Given the description of an element on the screen output the (x, y) to click on. 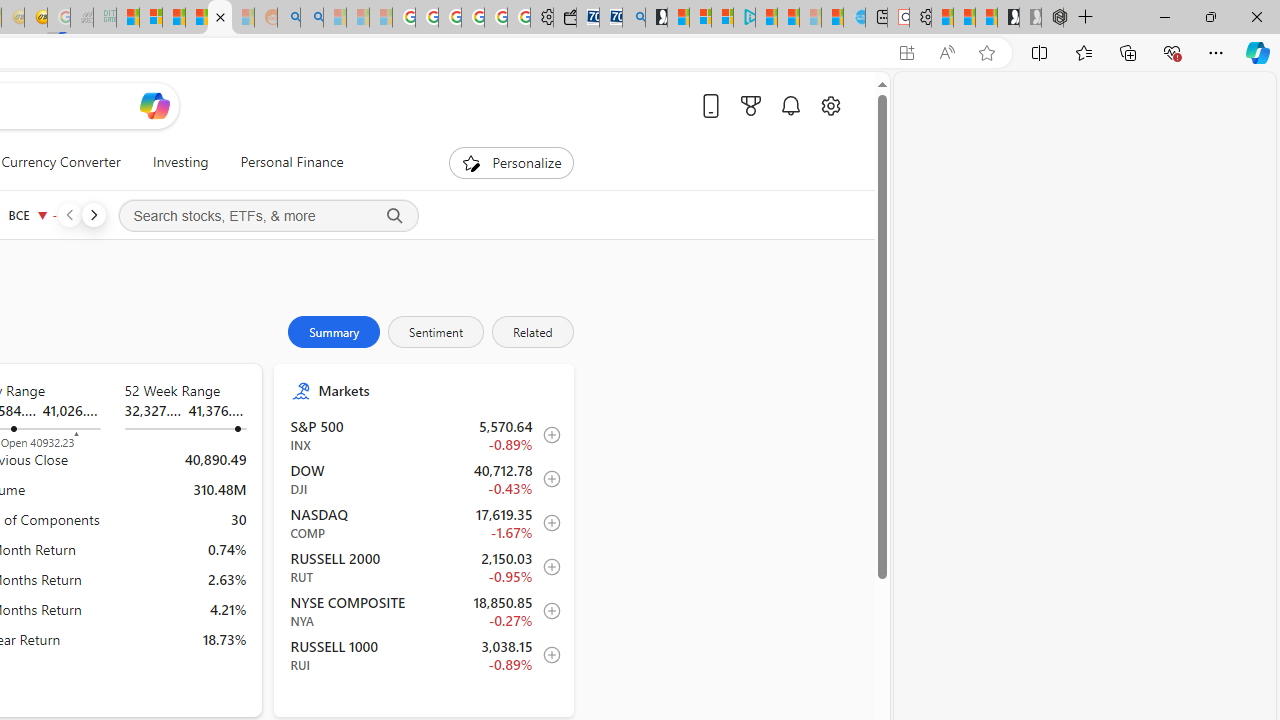
Investing (180, 162)
App available. Install Start Money (906, 53)
Summary (334, 331)
Markets (436, 390)
